Given the description of an element on the screen output the (x, y) to click on. 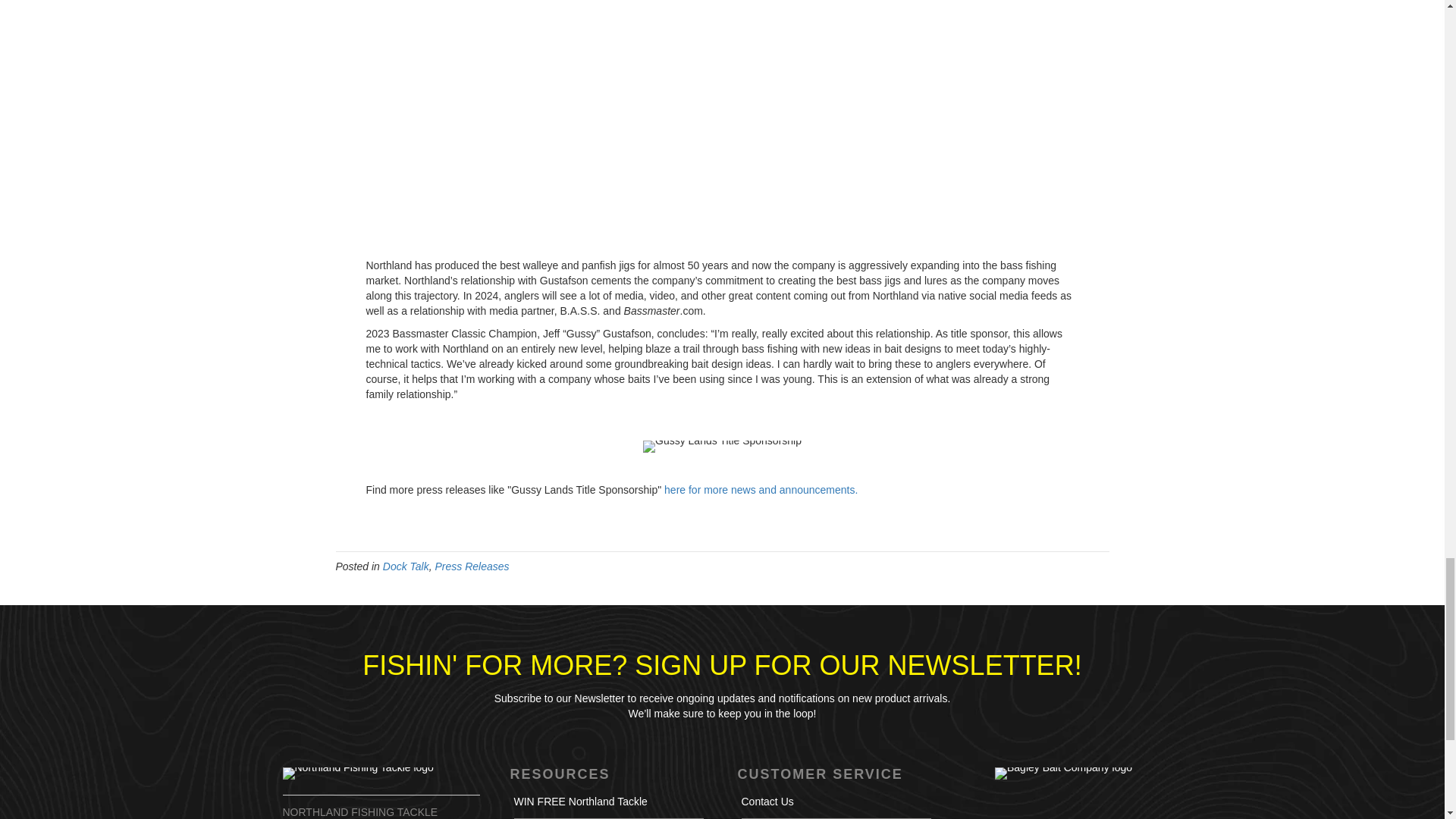
bagley-bait-logo-1593458854-53836.original (1063, 773)
Gussy Lands Title Sponsorship 04 (722, 446)
